Given the description of an element on the screen output the (x, y) to click on. 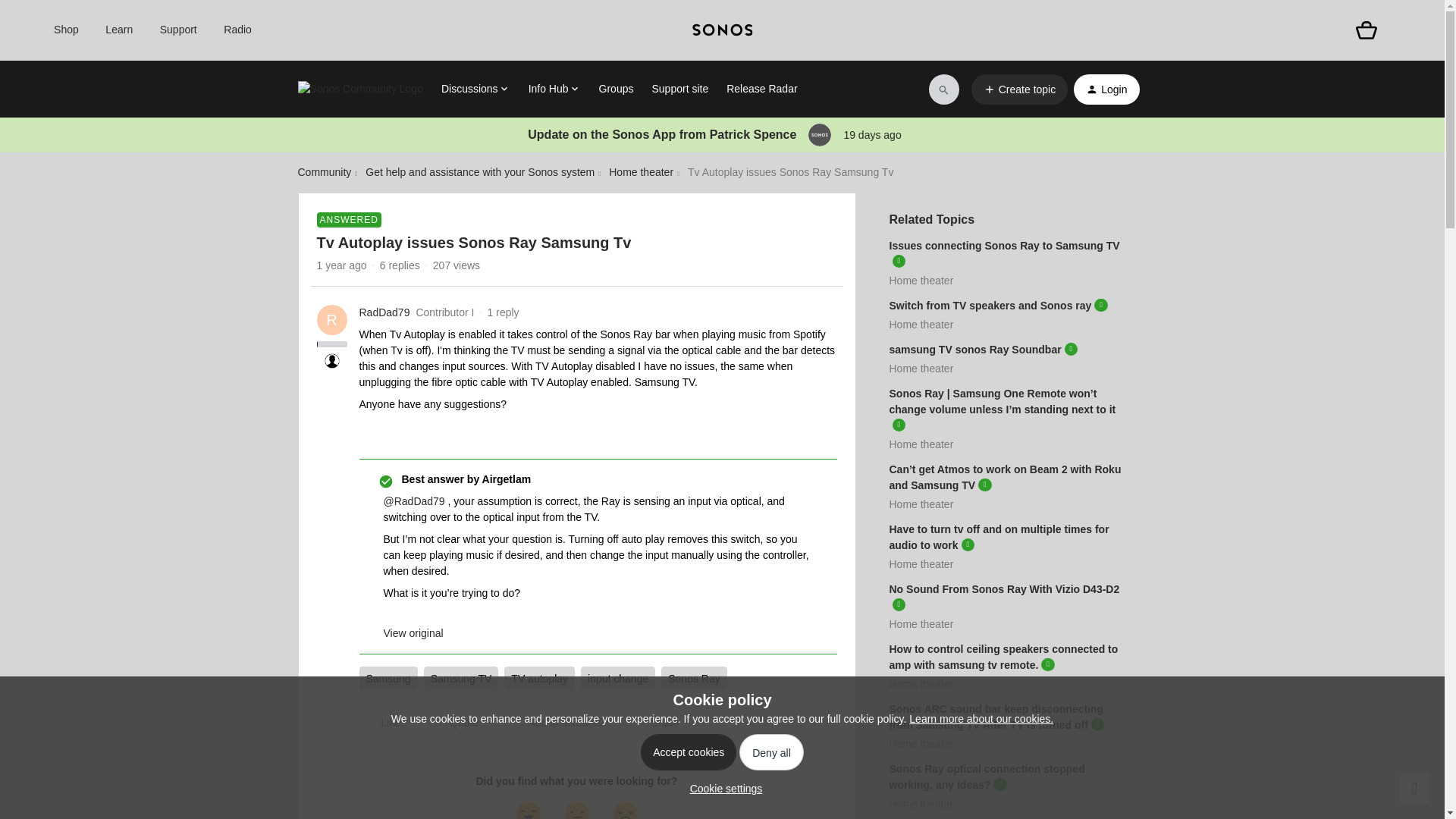
Learn (118, 30)
Shop (65, 30)
Radio (237, 30)
Support (178, 30)
Discussions (476, 88)
